Given the description of an element on the screen output the (x, y) to click on. 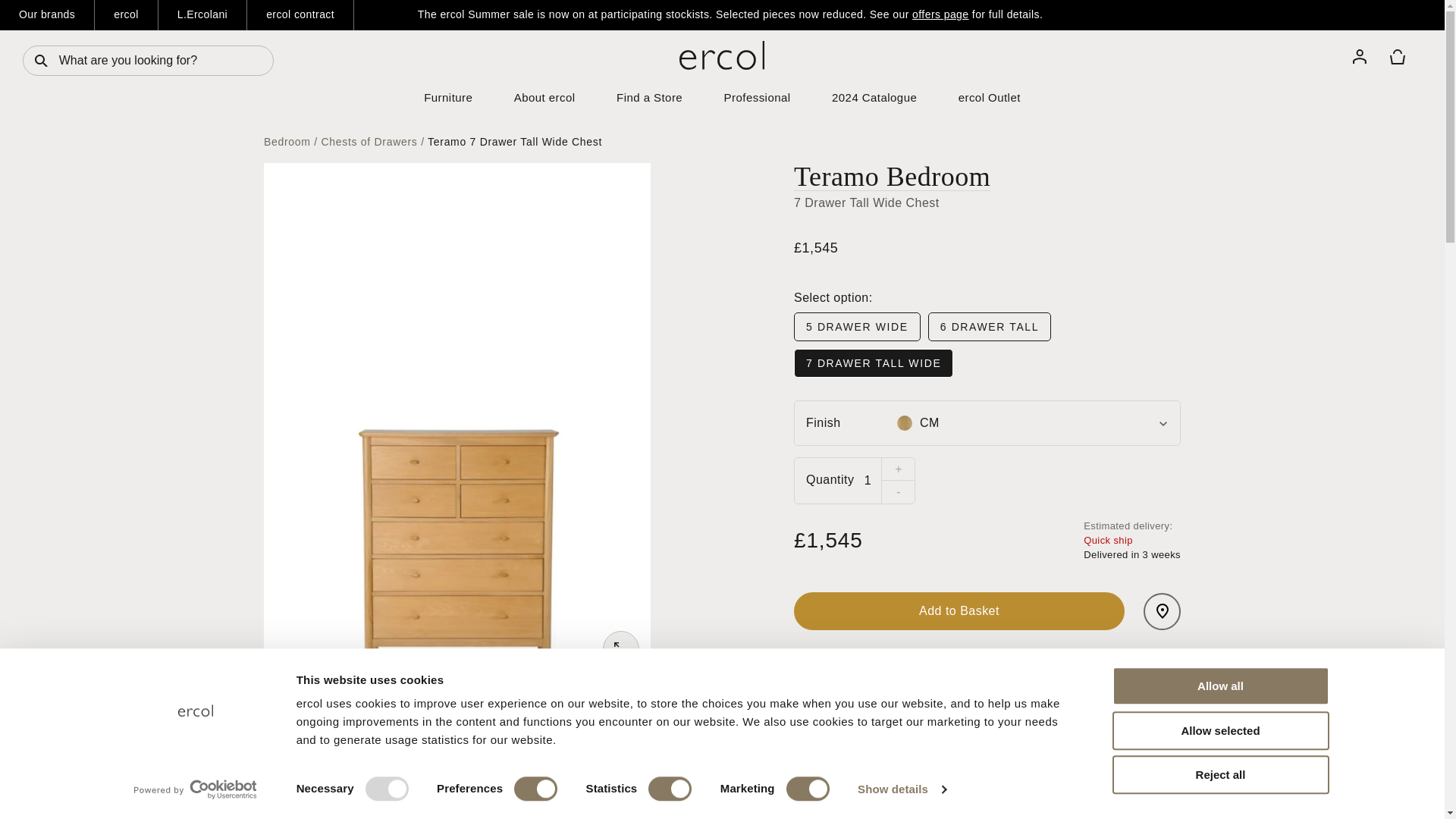
Show details (900, 789)
Enlarge Image (620, 648)
CM (904, 422)
- (897, 491)
Subscribe (1355, 762)
